Given the description of an element on the screen output the (x, y) to click on. 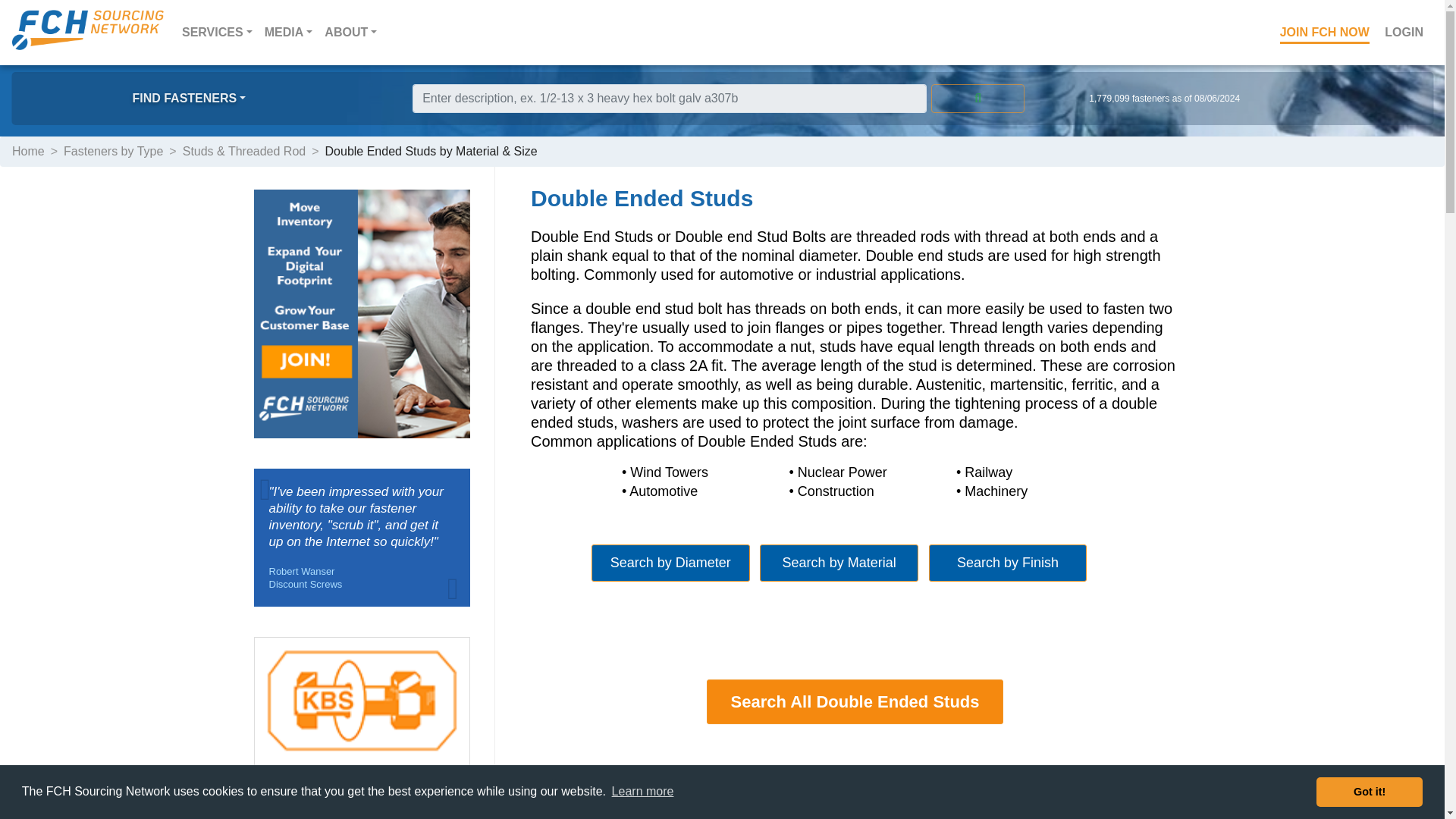
MEDIA (288, 32)
Home (28, 151)
Search All Double Ended Studs (854, 701)
Search by Diameter (670, 562)
Fasteners by Type (113, 151)
Search by Finish (1007, 562)
JOIN FCH NOW (1324, 32)
LOGIN (1403, 32)
Learn more (641, 791)
FIND FASTENERS (189, 98)
Got it! (1369, 791)
Search by Material (839, 562)
ABOUT (350, 32)
